Given the description of an element on the screen output the (x, y) to click on. 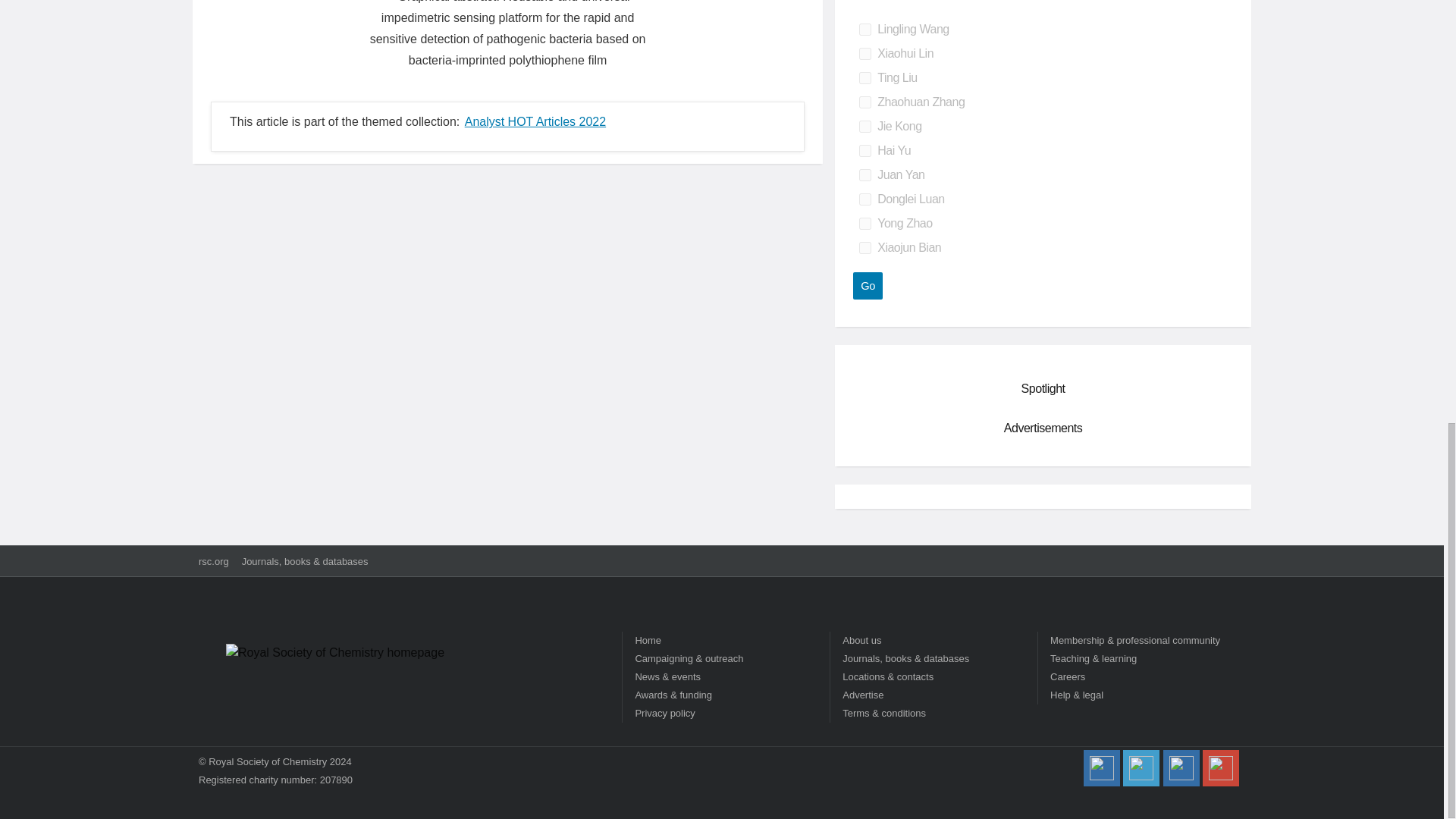
Go (867, 285)
on (864, 199)
on (864, 150)
on (864, 78)
on (864, 102)
on (864, 53)
on (864, 126)
on (864, 29)
on (864, 247)
on (864, 223)
